Given the description of an element on the screen output the (x, y) to click on. 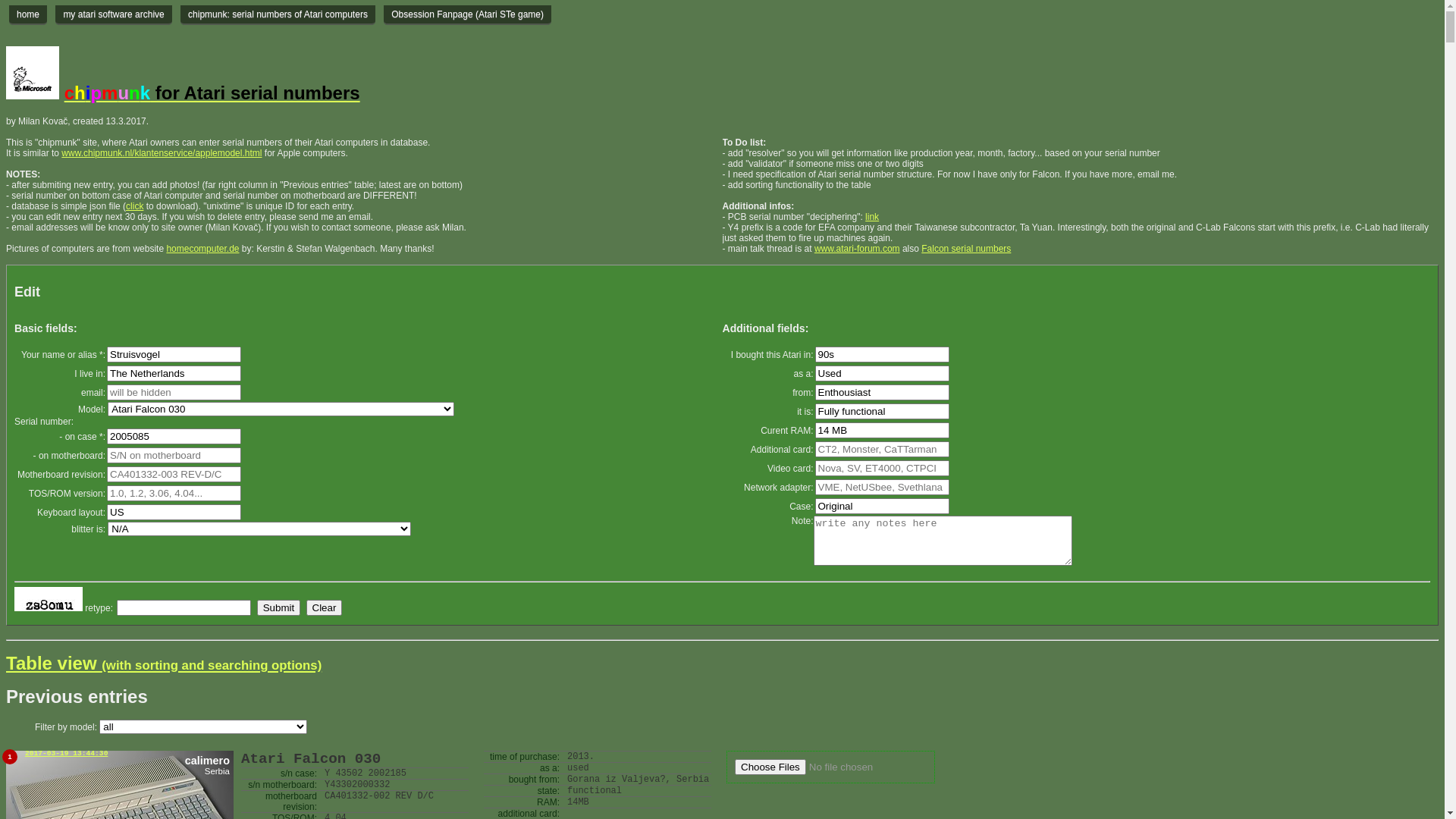
click Element type: text (134, 205)
my atari software archive Element type: text (113, 15)
chipmunk for Atari serial numbers Element type: text (212, 92)
Submit Element type: text (278, 607)
link Element type: text (871, 216)
Table view (with sorting and searching options) Element type: text (163, 662)
homecomputer.de Element type: text (202, 248)
home Element type: text (28, 15)
Falcon serial numbers Element type: text (965, 248)
www.chipmunk.nl/klantenservice/applemodel.html Element type: text (161, 152)
Obsession Fanpage (Atari STe game) Element type: text (467, 15)
chipmunk: serial numbers of Atari computers Element type: text (277, 15)
2017-03-19 13:44:30 Element type: text (66, 753)
www.atari-forum.com Element type: text (857, 248)
